Given the description of an element on the screen output the (x, y) to click on. 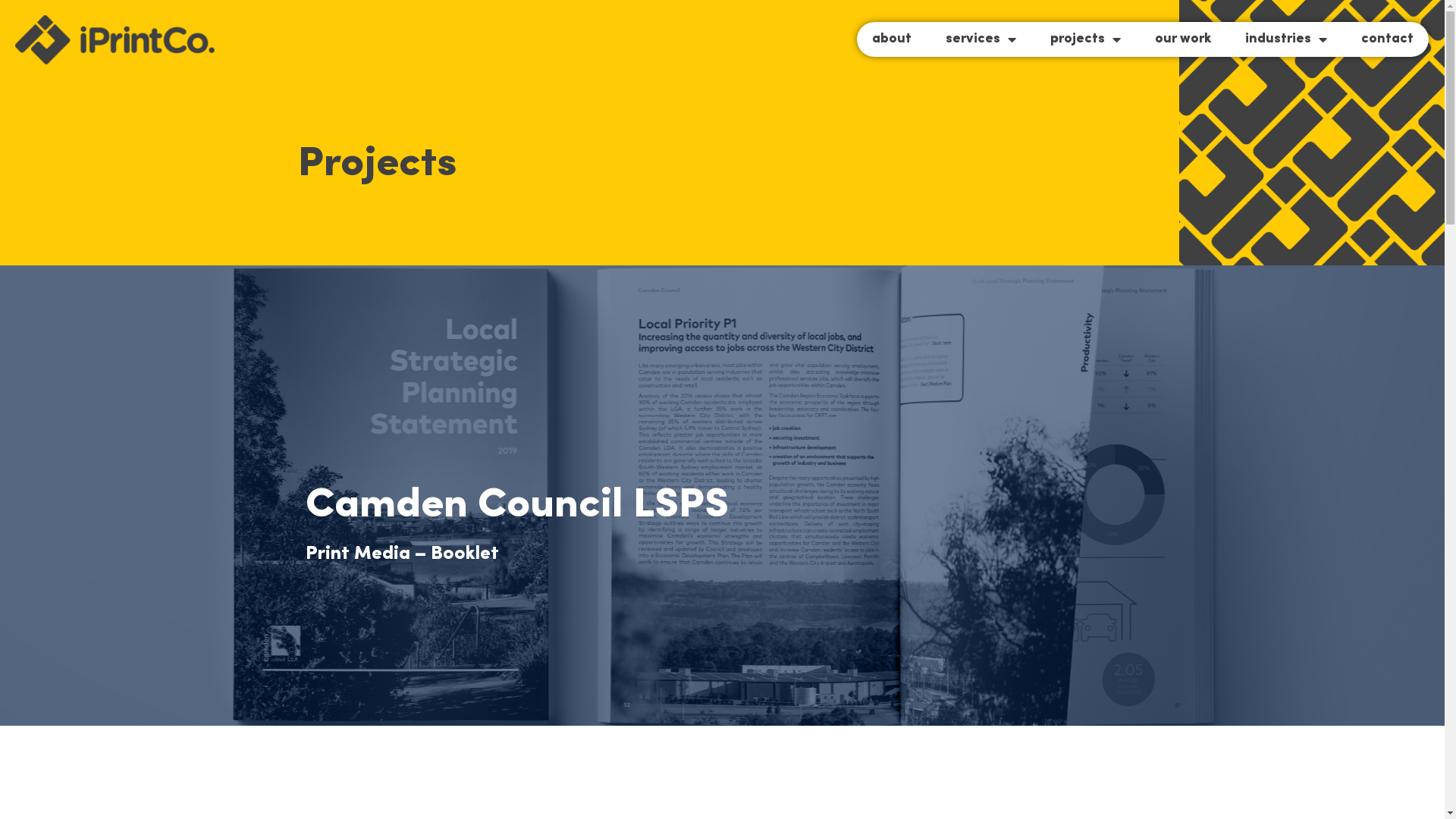
our work Element type: text (1182, 38)
industries Element type: text (1286, 38)
projects Element type: text (1085, 38)
services Element type: text (980, 38)
contact Element type: text (1387, 38)
about Element type: text (891, 38)
